Given the description of an element on the screen output the (x, y) to click on. 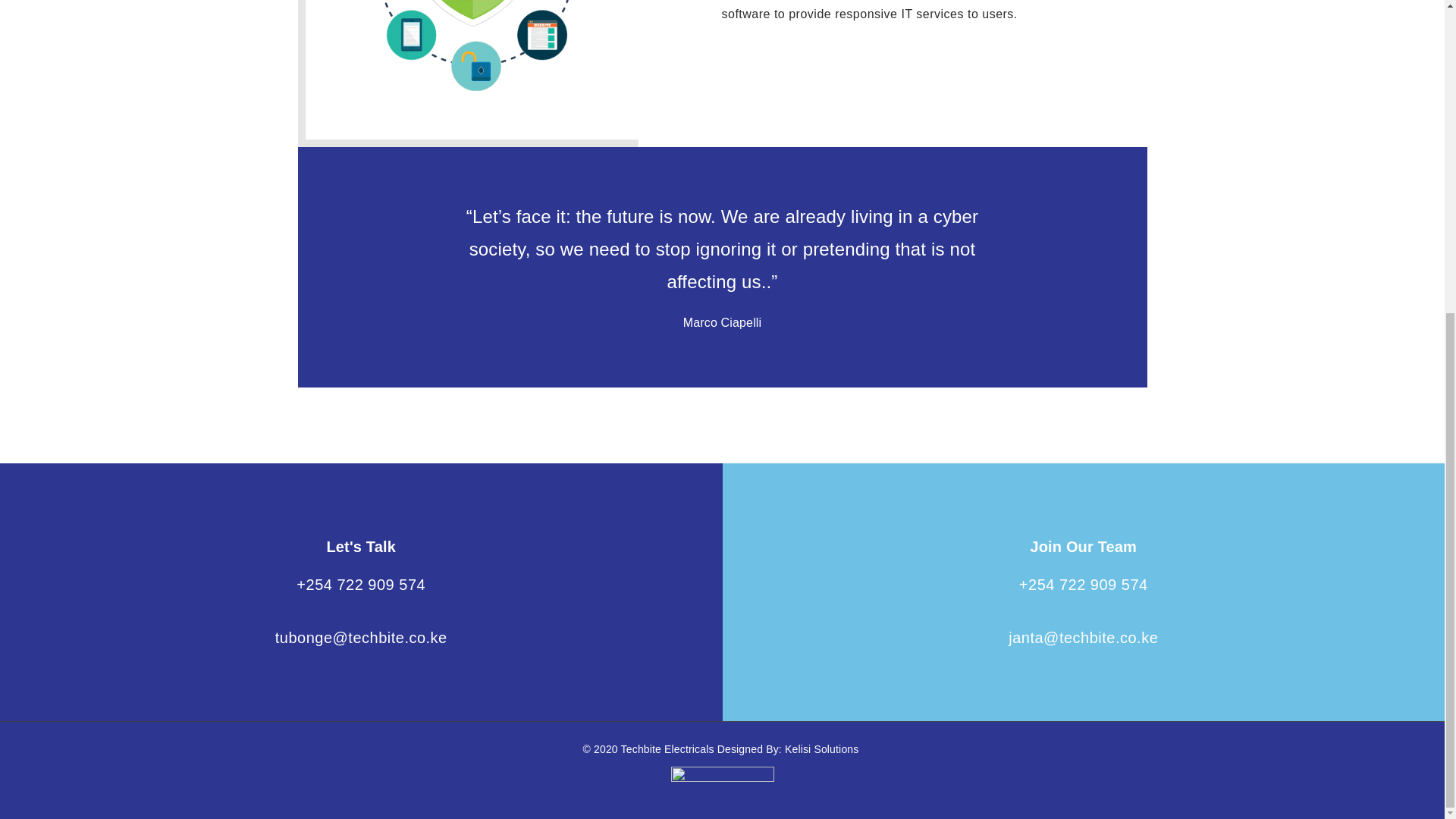
Zakra Professional (669, 748)
Kelisi Solutions (821, 748)
Techbite Electricals (669, 748)
Zakra (821, 748)
